Given the description of an element on the screen output the (x, y) to click on. 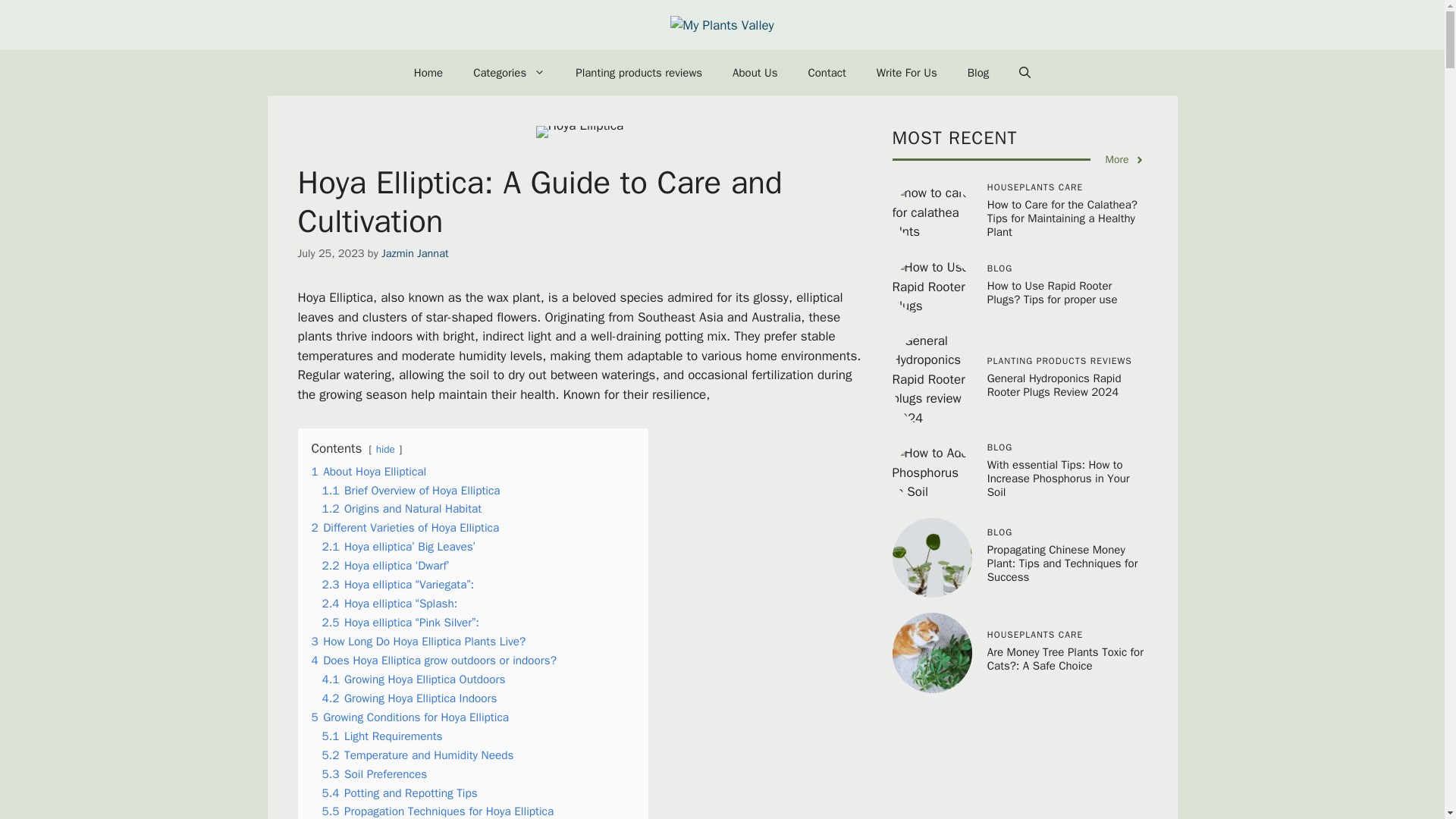
Write For Us (906, 72)
5.2 Temperature and Humidity Needs (417, 754)
4.2 Growing Hoya Elliptica Indoors (408, 698)
1.1 Brief Overview of Hoya Elliptica (410, 490)
Home (428, 72)
hide (384, 449)
1 About Hoya Elliptical (368, 471)
Blog (978, 72)
1.2 Origins and Natural Habitat (401, 508)
Planting products reviews (638, 72)
5.1 Light Requirements (381, 735)
4 Does Hoya Elliptica grow outdoors or indoors? (433, 660)
2 Different Varieties of Hoya Elliptica (405, 527)
5 Growing Conditions for Hoya Elliptica (409, 717)
3 How Long Do Hoya Elliptica Plants Live? (418, 641)
